Given the description of an element on the screen output the (x, y) to click on. 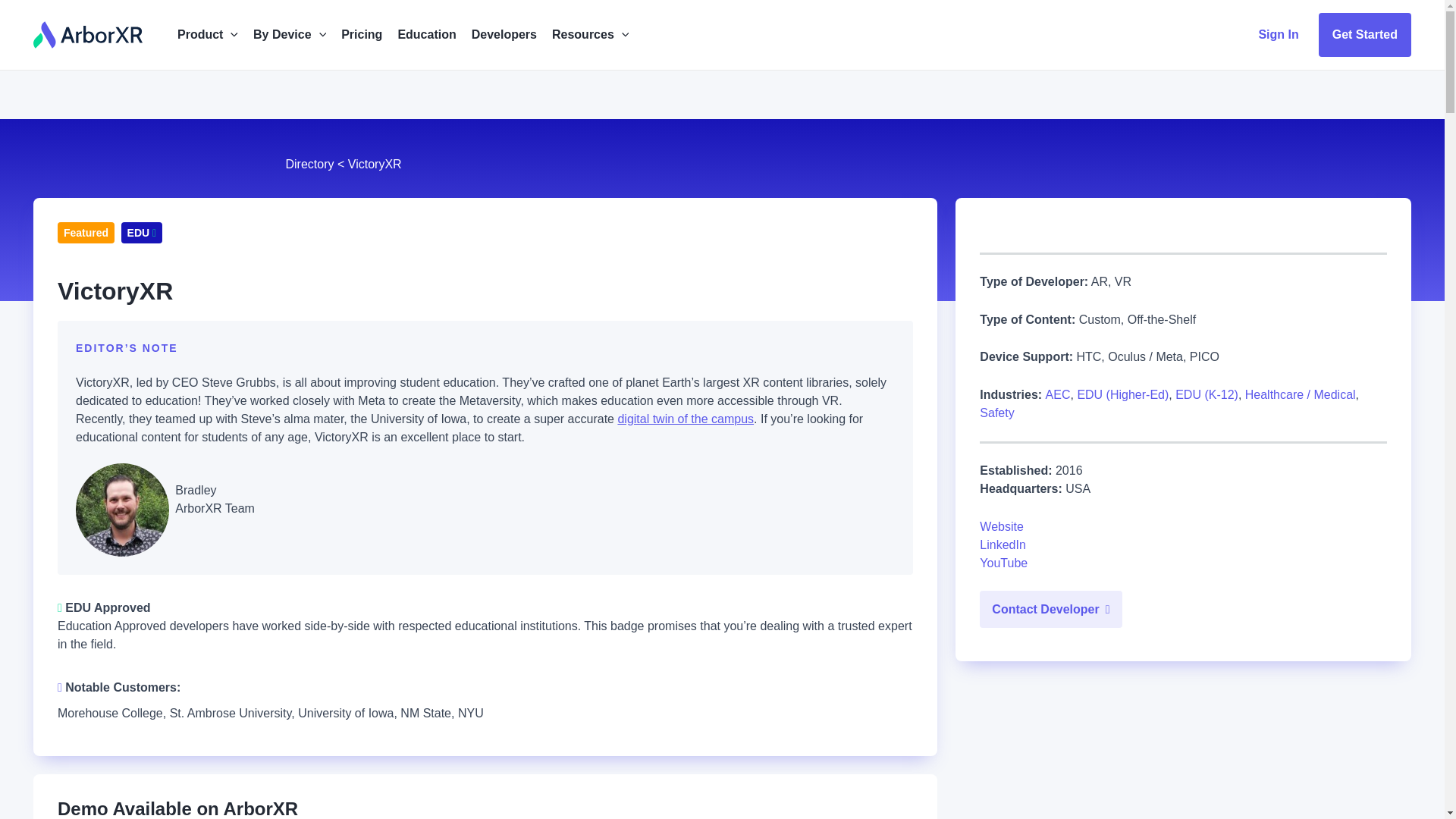
Pricing (361, 34)
LinkedIn (1002, 544)
Product (208, 34)
YouTube (1003, 562)
By Device (289, 34)
Resources (590, 34)
Education (426, 34)
Sign In (1278, 34)
Website (1001, 526)
Get Started (1364, 34)
